Given the description of an element on the screen output the (x, y) to click on. 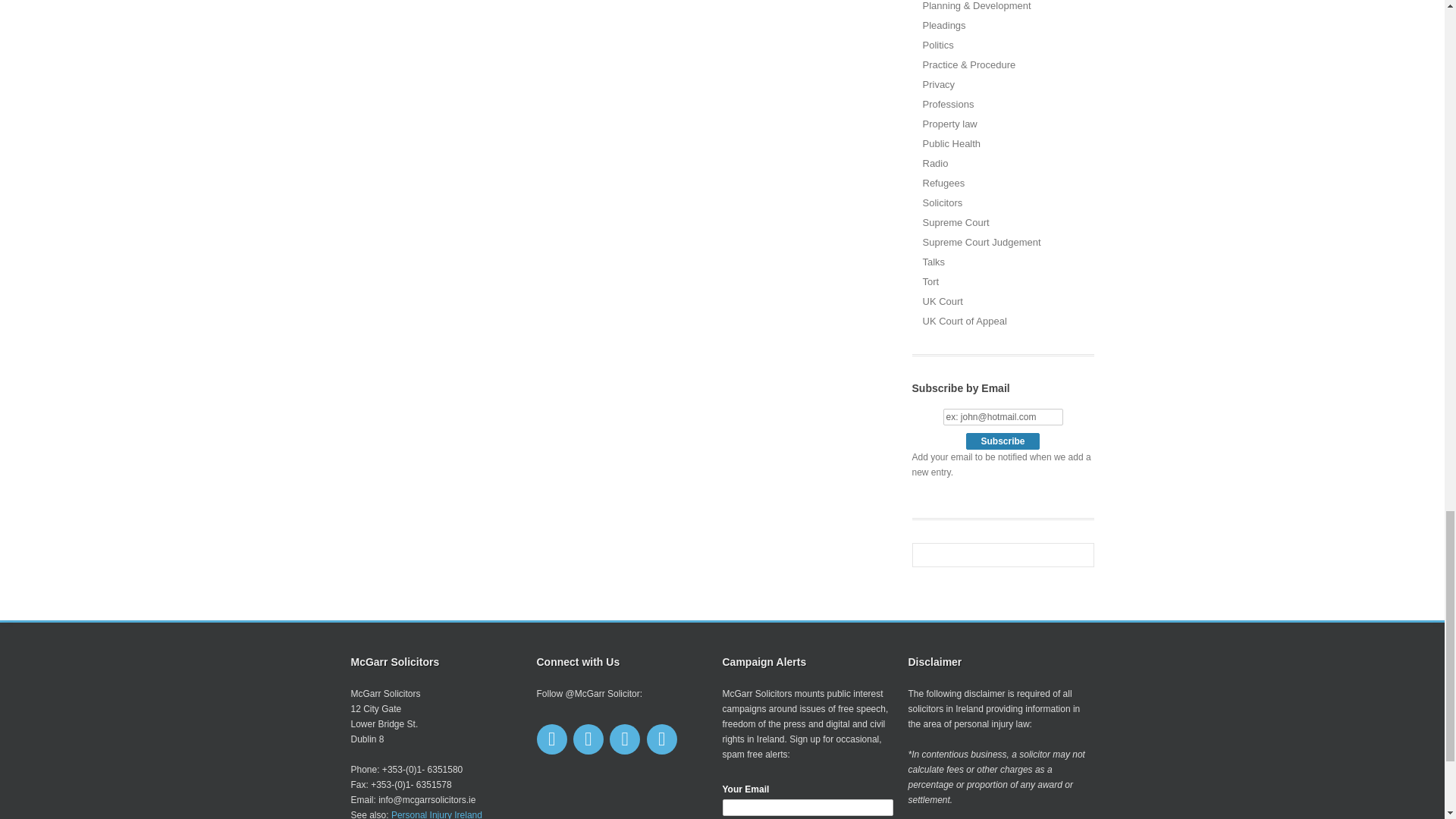
Subscribe (1002, 441)
